Given the description of an element on the screen output the (x, y) to click on. 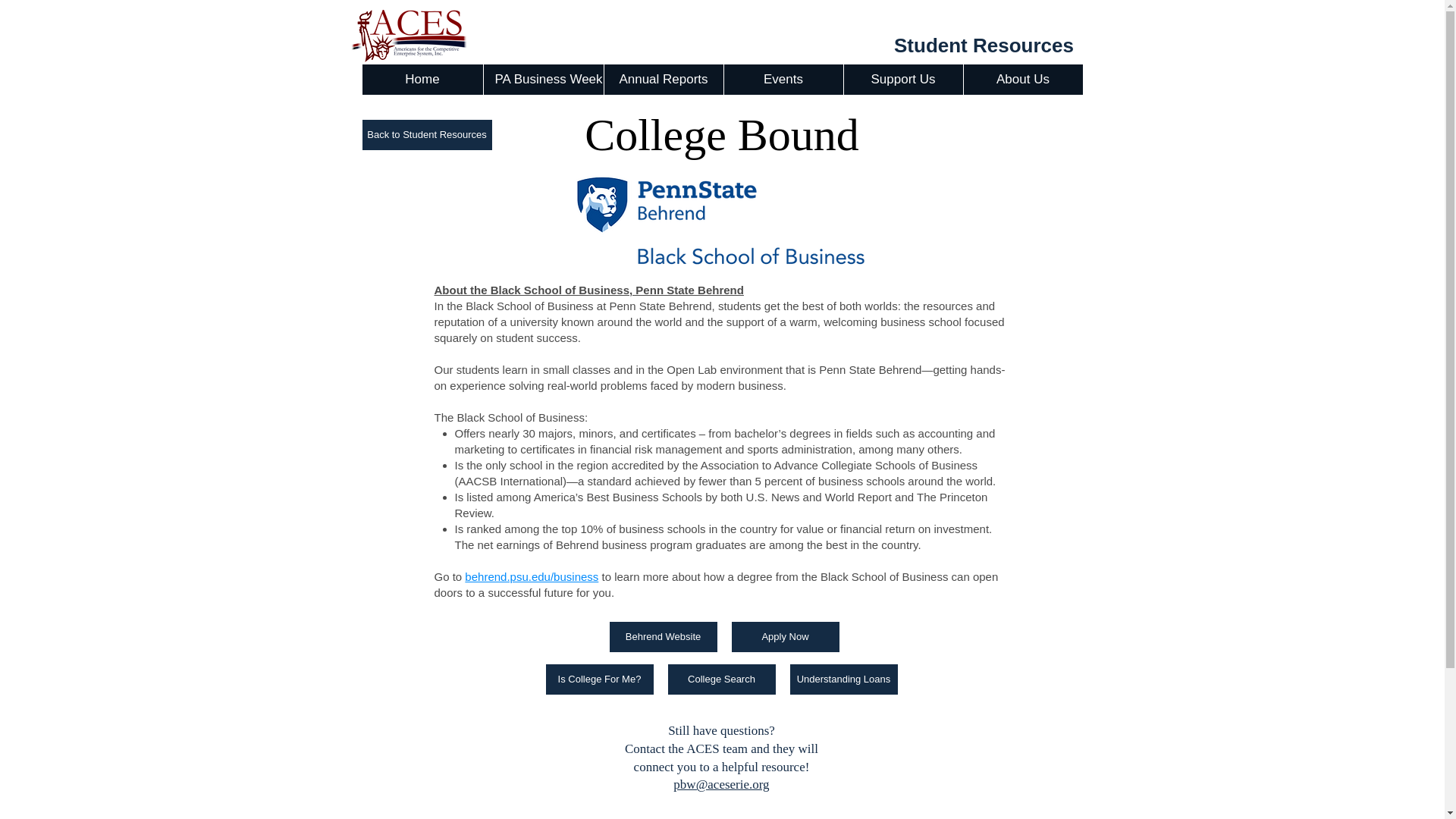
Behrend Website (663, 636)
Back to Student Resources (427, 134)
Apply Now (784, 636)
Events (783, 79)
Home (422, 79)
Student Resources (983, 45)
Annual Reports (663, 79)
Is College For Me? (599, 679)
Support Us (902, 79)
Facebook Like (590, 42)
